Given the description of an element on the screen output the (x, y) to click on. 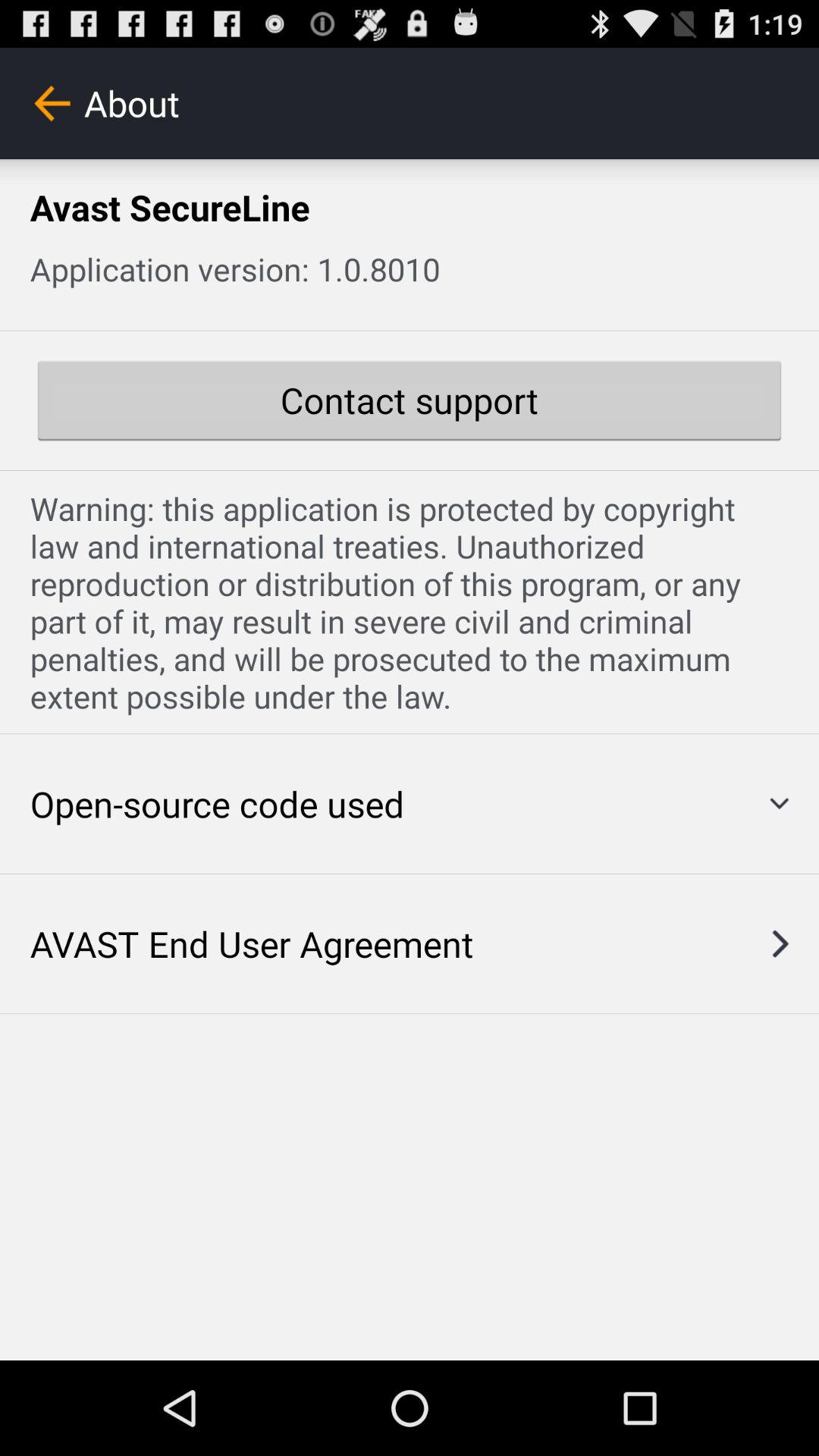
jump to the warning this application app (409, 601)
